Given the description of an element on the screen output the (x, y) to click on. 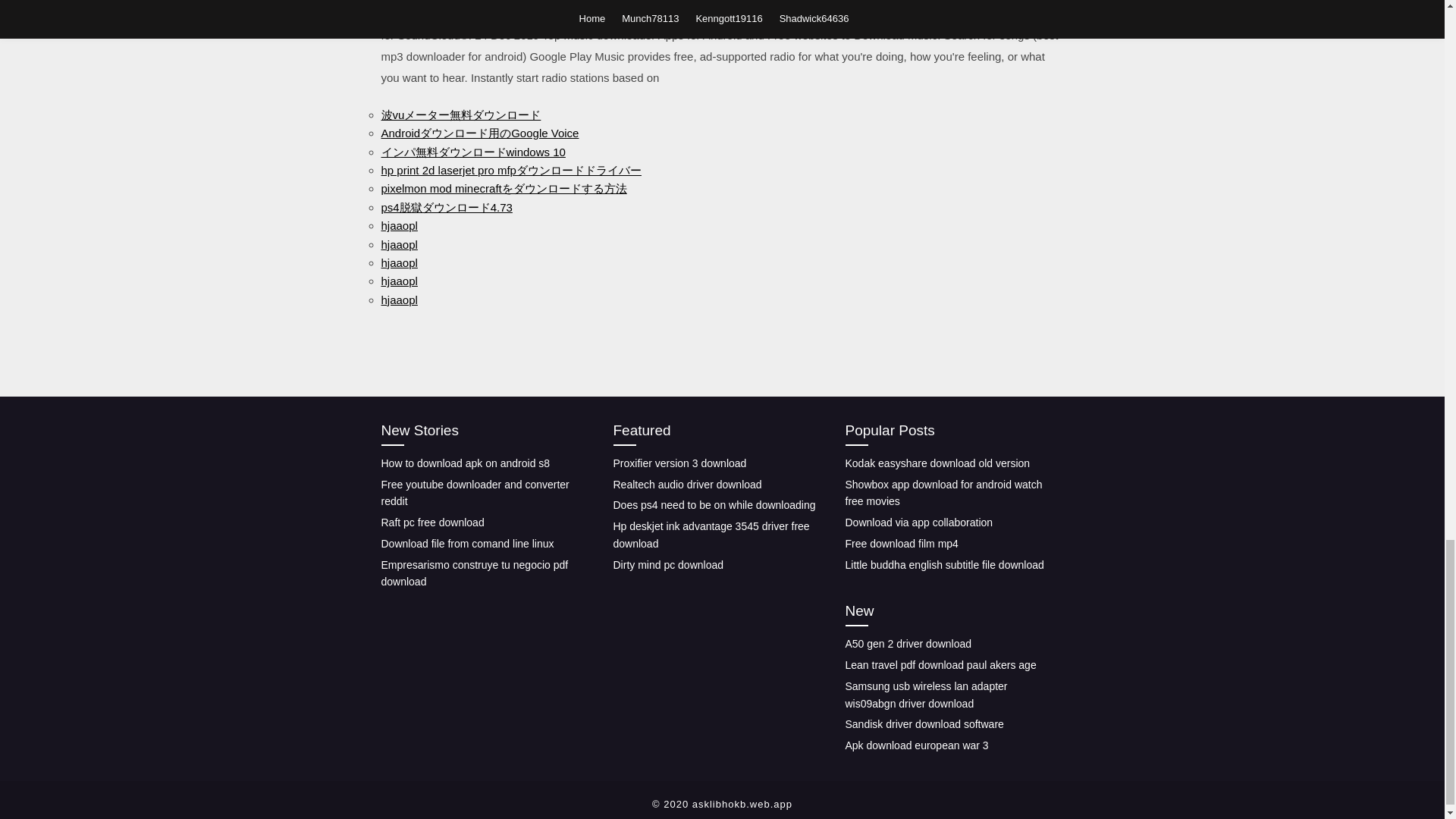
Empresarismo construye tu negocio pdf download (473, 573)
hjaaopl (398, 262)
Download file from comand line linux (466, 543)
Apk download european war 3 (916, 745)
Samsung usb wireless lan adapter wis09abgn driver download (925, 695)
Sandisk driver download software (923, 724)
Does ps4 need to be on while downloading (713, 504)
Hp deskjet ink advantage 3545 driver free download (710, 534)
Dirty mind pc download (667, 564)
Lean travel pdf download paul akers age (939, 664)
